Given the description of an element on the screen output the (x, y) to click on. 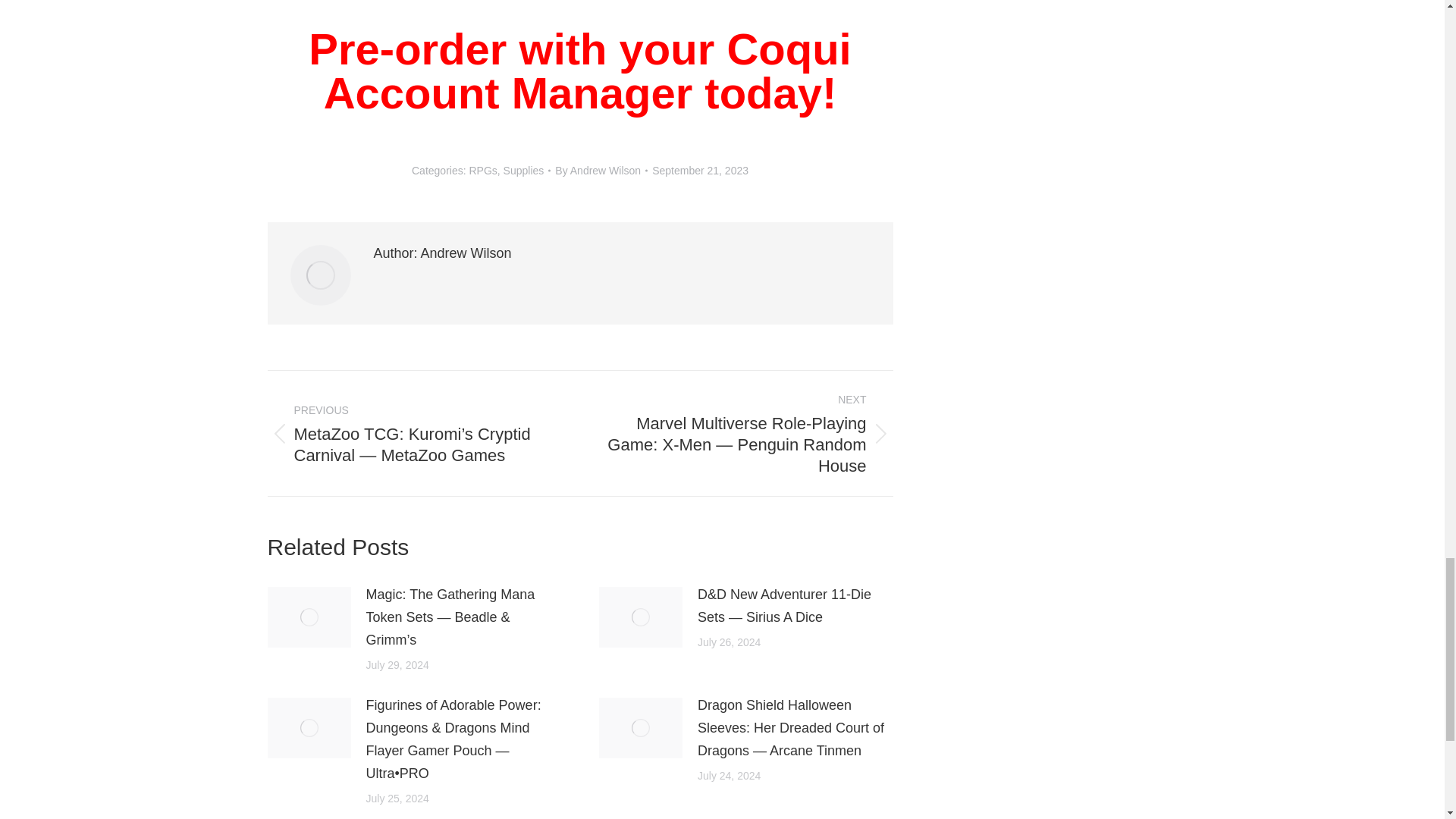
5:47 pm (700, 170)
By Andrew Wilson (600, 170)
RPGs (482, 170)
September 21, 2023 (700, 170)
Supplies (523, 170)
View all posts by Andrew Wilson (600, 170)
